Given the description of an element on the screen output the (x, y) to click on. 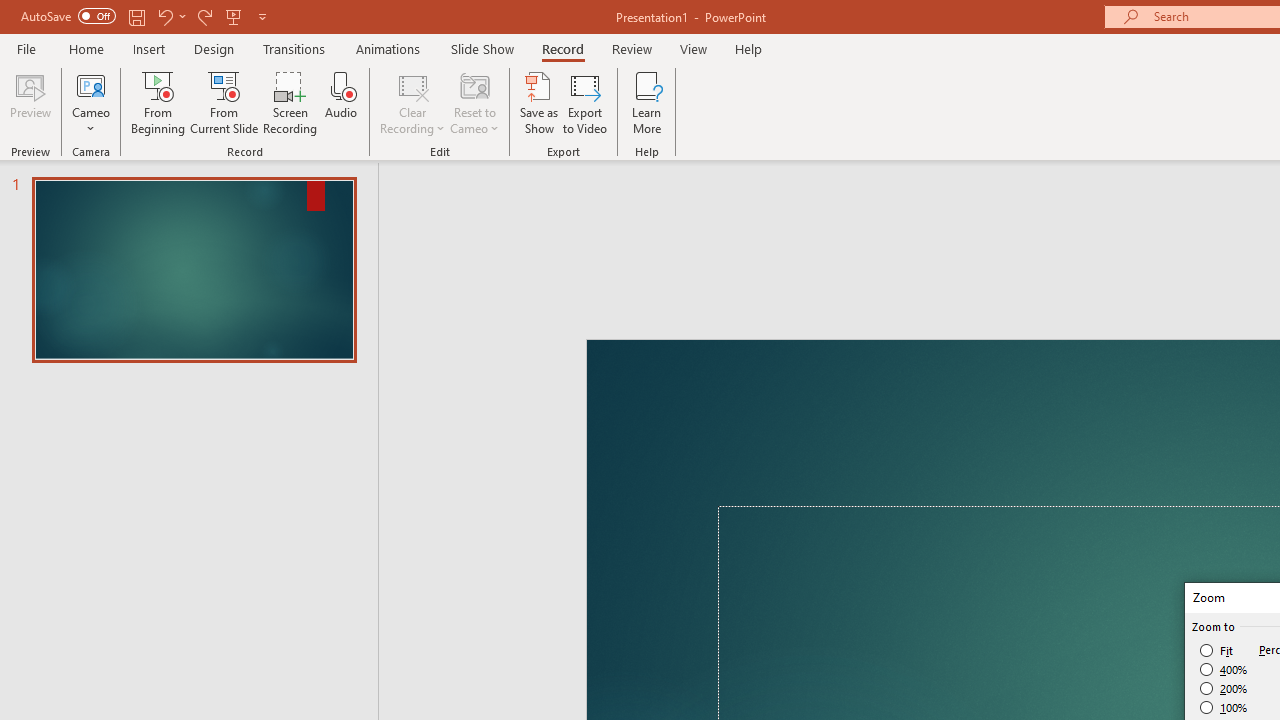
100% (1224, 707)
200% (1224, 688)
